Given the description of an element on the screen output the (x, y) to click on. 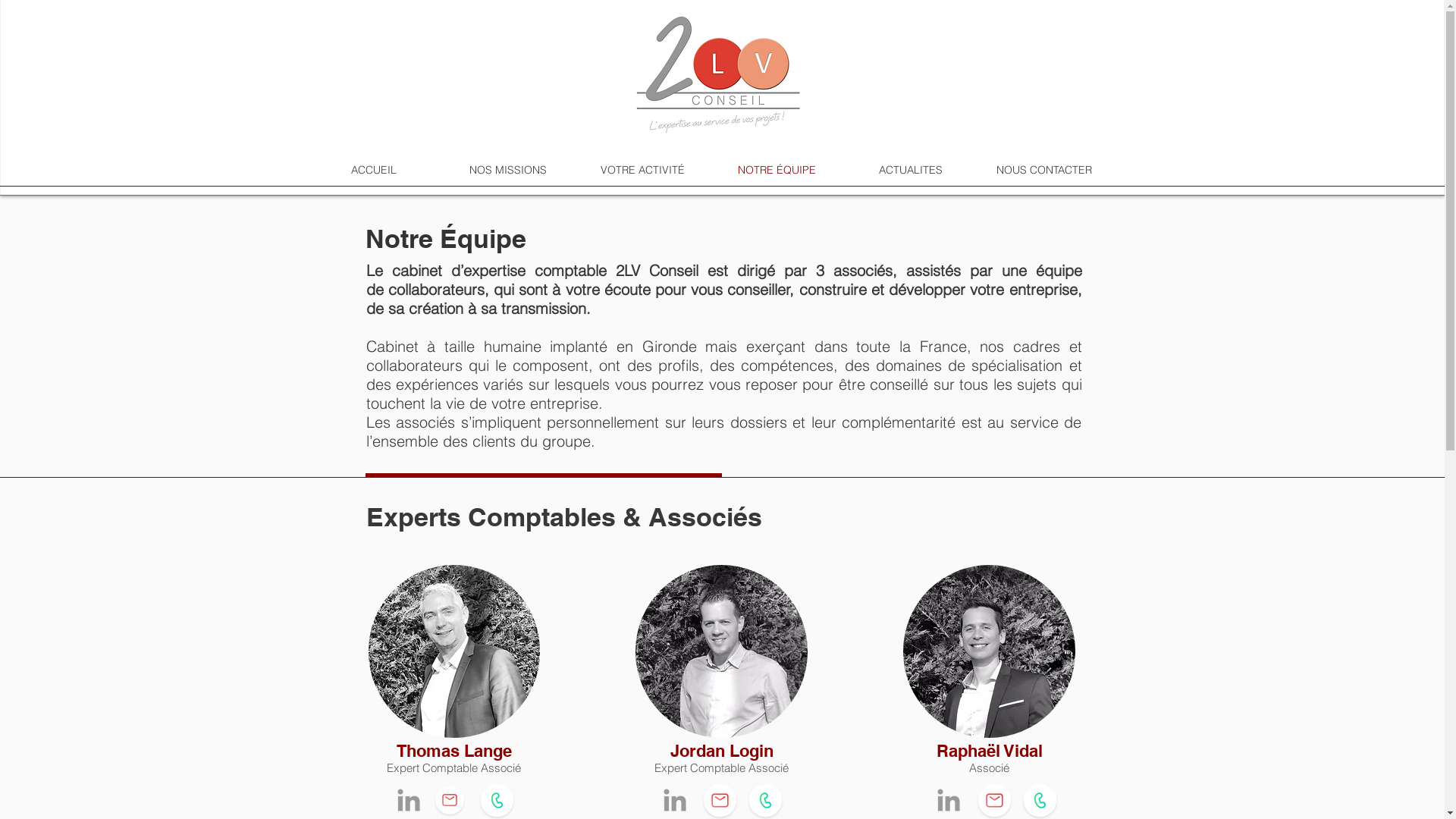
ACCUEIL Element type: text (373, 169)
NOUS CONTACTER Element type: text (1043, 169)
ACTUALITES Element type: text (909, 169)
NOS MISSIONS Element type: text (508, 169)
